Given the description of an element on the screen output the (x, y) to click on. 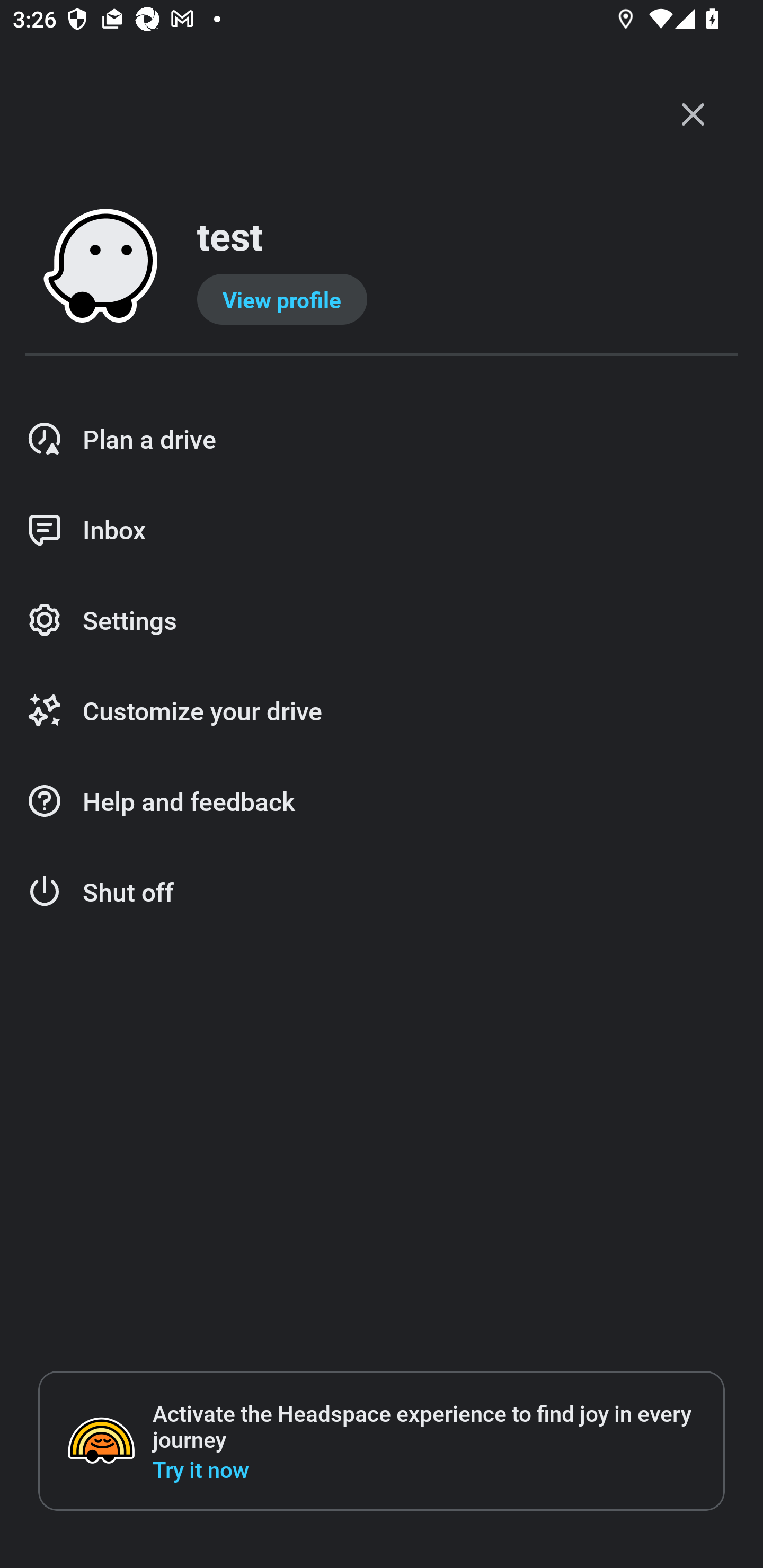
test View profile (381, 266)
View profile (281, 299)
ACTION_CELL_ICON Plan a drive ACTION_CELL_TEXT (381, 438)
ACTION_CELL_ICON Inbox ACTION_CELL_TEXT (381, 529)
ACTION_CELL_ICON Settings ACTION_CELL_TEXT (381, 620)
ACTION_CELL_ICON Shut off ACTION_CELL_TEXT (381, 891)
